Given the description of an element on the screen output the (x, y) to click on. 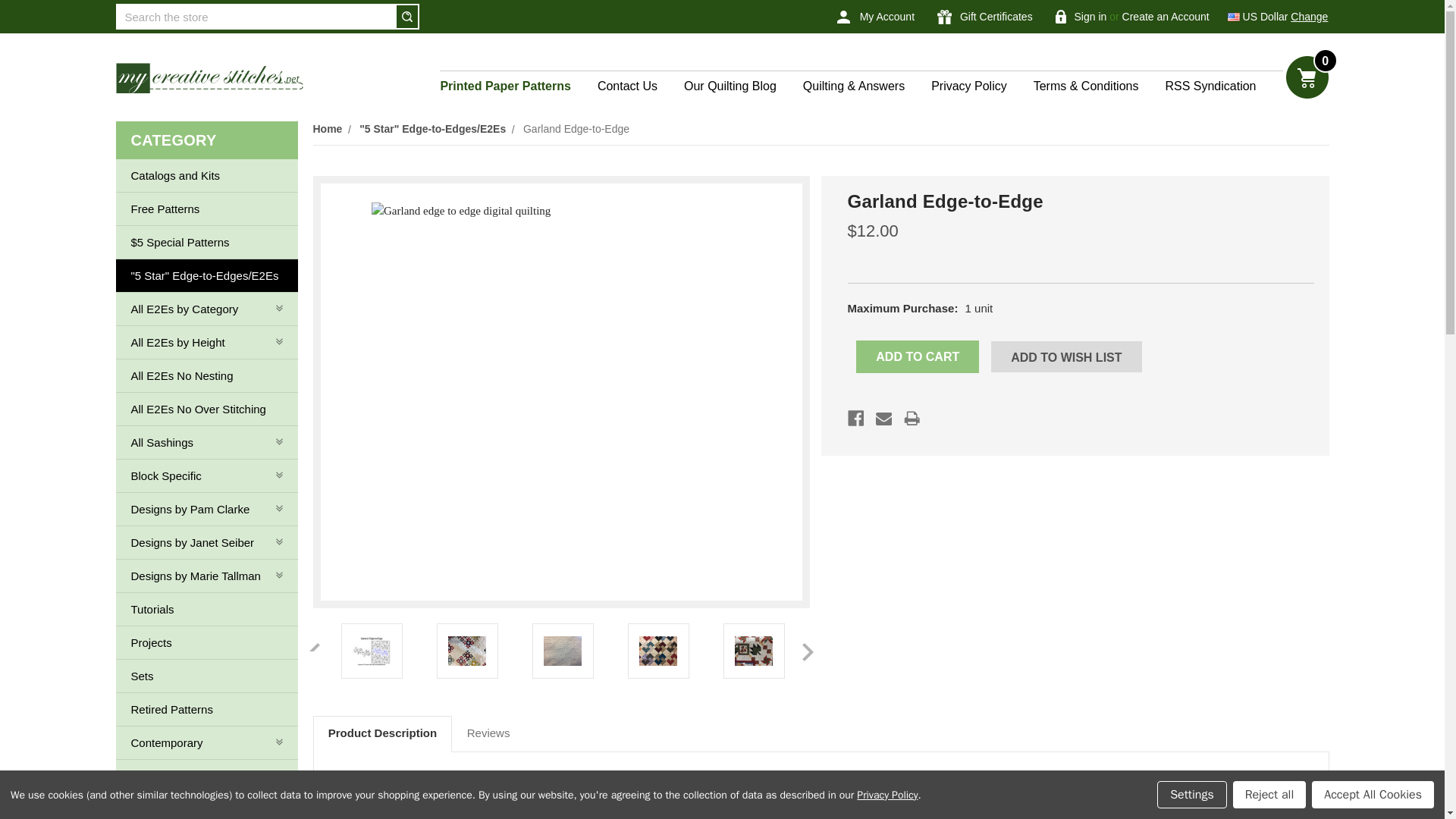
Sign in (1080, 16)
Search (406, 15)
Search (406, 15)
My Creative Stitches (209, 78)
Gift Certificates (984, 16)
US Dollar Change (1277, 16)
Create an Account (1165, 16)
My Account (875, 16)
